Given the description of an element on the screen output the (x, y) to click on. 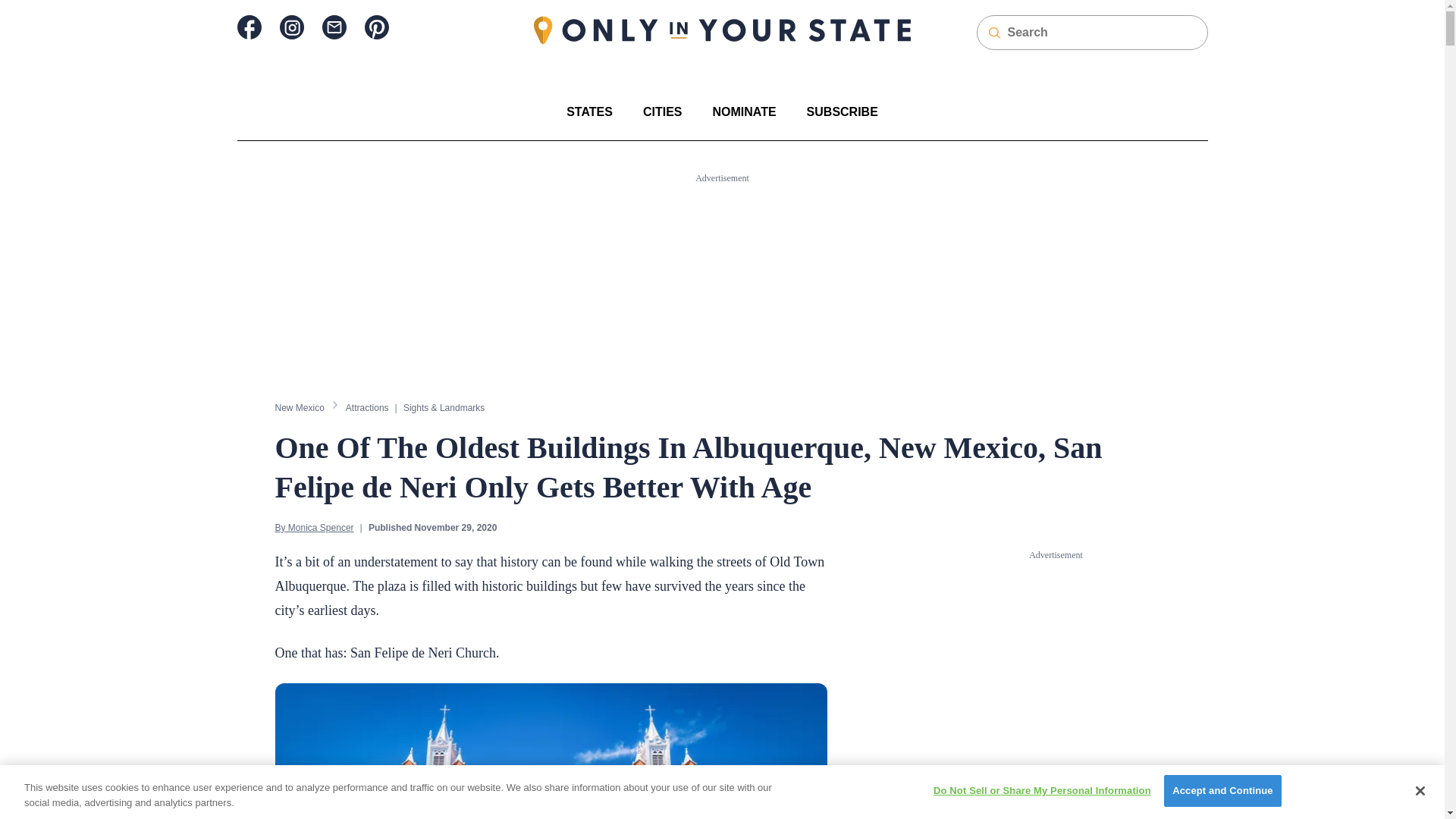
instagram (290, 27)
Only in Your State (722, 30)
STATES (589, 111)
Search (21, 7)
Attractions (367, 407)
pinterest (376, 27)
facebook (247, 27)
newsletter (333, 27)
